Given the description of an element on the screen output the (x, y) to click on. 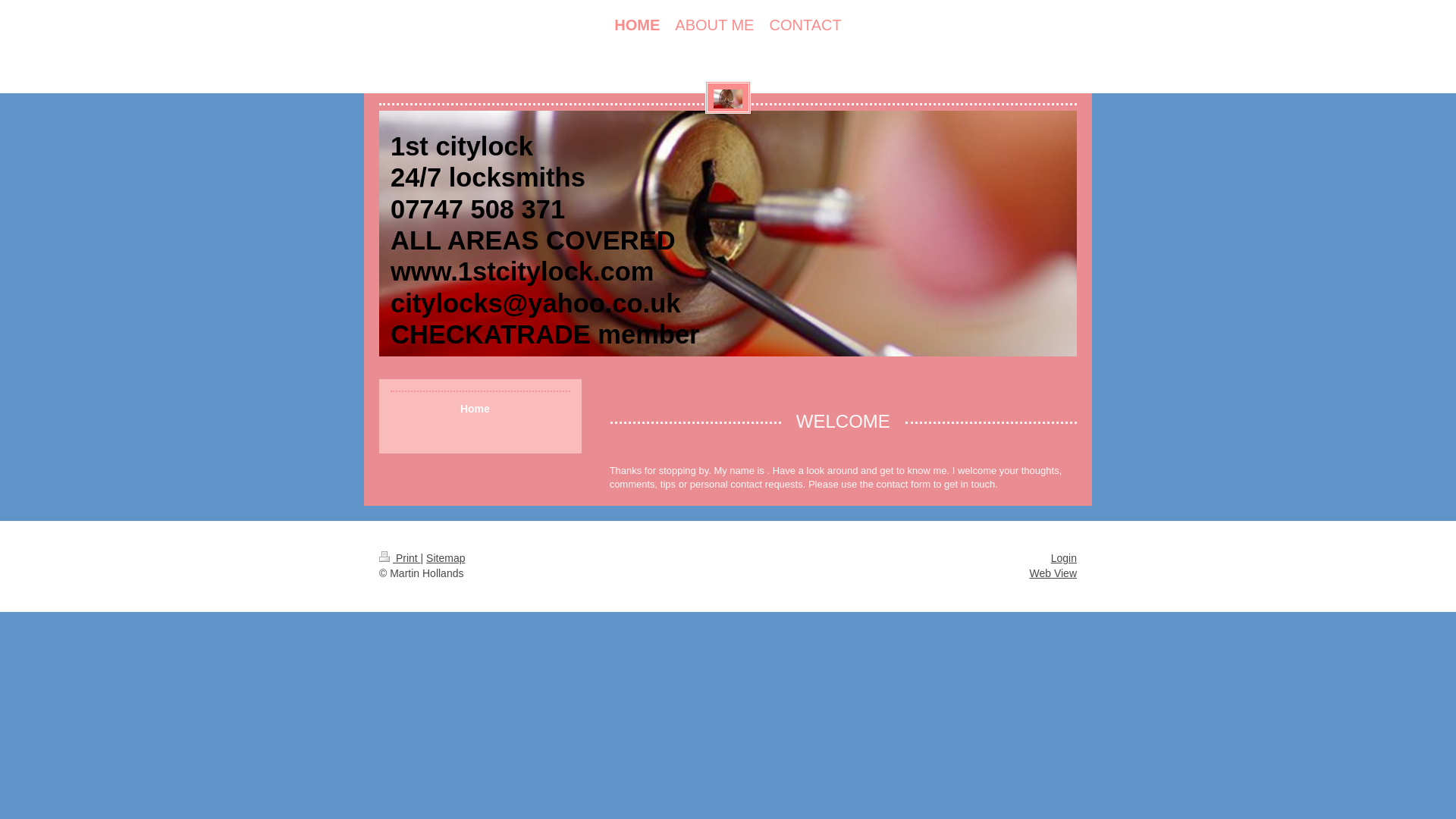
Print Element type: text (399, 558)
Web View Element type: text (1052, 573)
CONTACT Element type: text (804, 25)
HOME Element type: text (636, 25)
Login Element type: text (1063, 558)
Sitemap Element type: text (445, 558)
ABOUT ME Element type: text (714, 25)
Home Element type: text (480, 408)
